Given the description of an element on the screen output the (x, y) to click on. 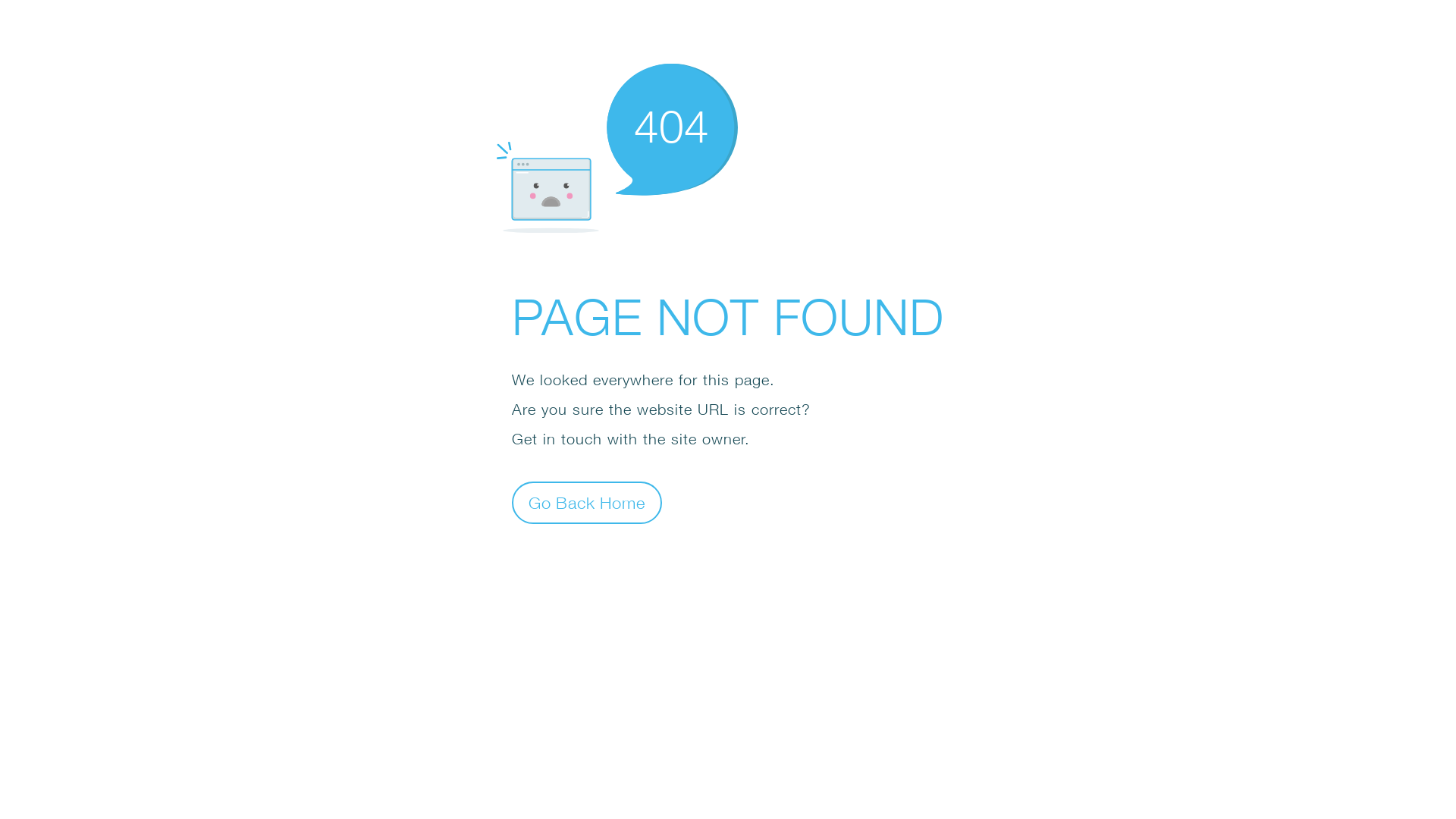
Go Back Home Element type: text (586, 502)
